Given the description of an element on the screen output the (x, y) to click on. 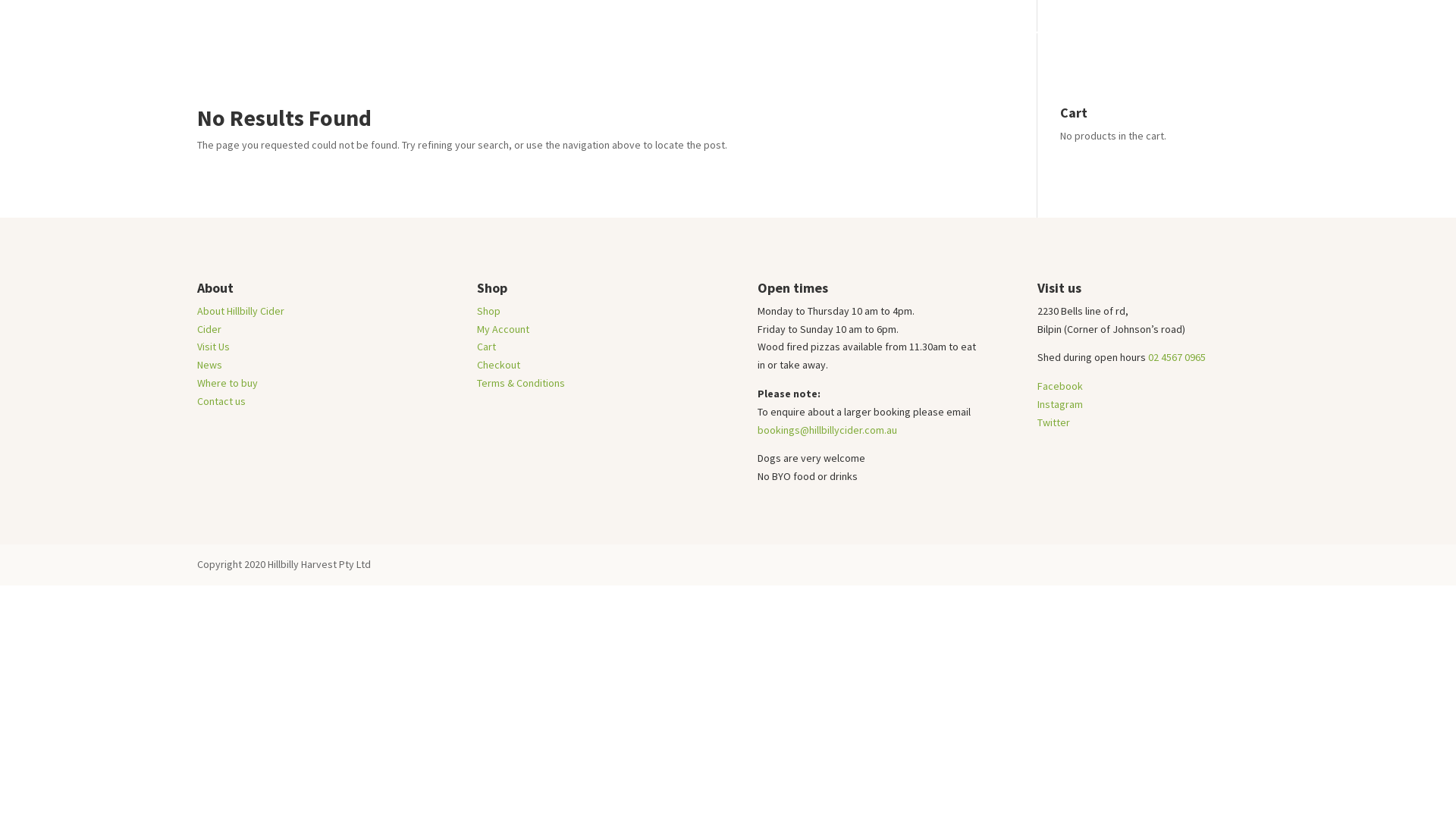
Where to buy Element type: text (1181, 43)
Terms & Conditions Element type: text (520, 382)
Twitter Element type: text (1053, 422)
My Account Element type: text (502, 328)
Home Element type: text (819, 43)
Shop Element type: text (488, 310)
Facebook Element type: text (1059, 385)
Cart Element type: text (485, 346)
bookings@hillbillycider.com.au Element type: text (826, 429)
Cider Element type: text (209, 328)
News Element type: text (209, 364)
About Hillbilly Cider Element type: text (973, 43)
Instagram Element type: text (1059, 404)
Shop Element type: text (871, 43)
Contact us Element type: text (221, 400)
Visit Us Element type: text (1091, 43)
Checkout Element type: text (498, 364)
02 4567 0965 Element type: text (1176, 357)
Where to buy Element type: text (227, 382)
About Hillbilly Cider Element type: text (240, 310)
Visit Us Element type: text (213, 346)
